Given the description of an element on the screen output the (x, y) to click on. 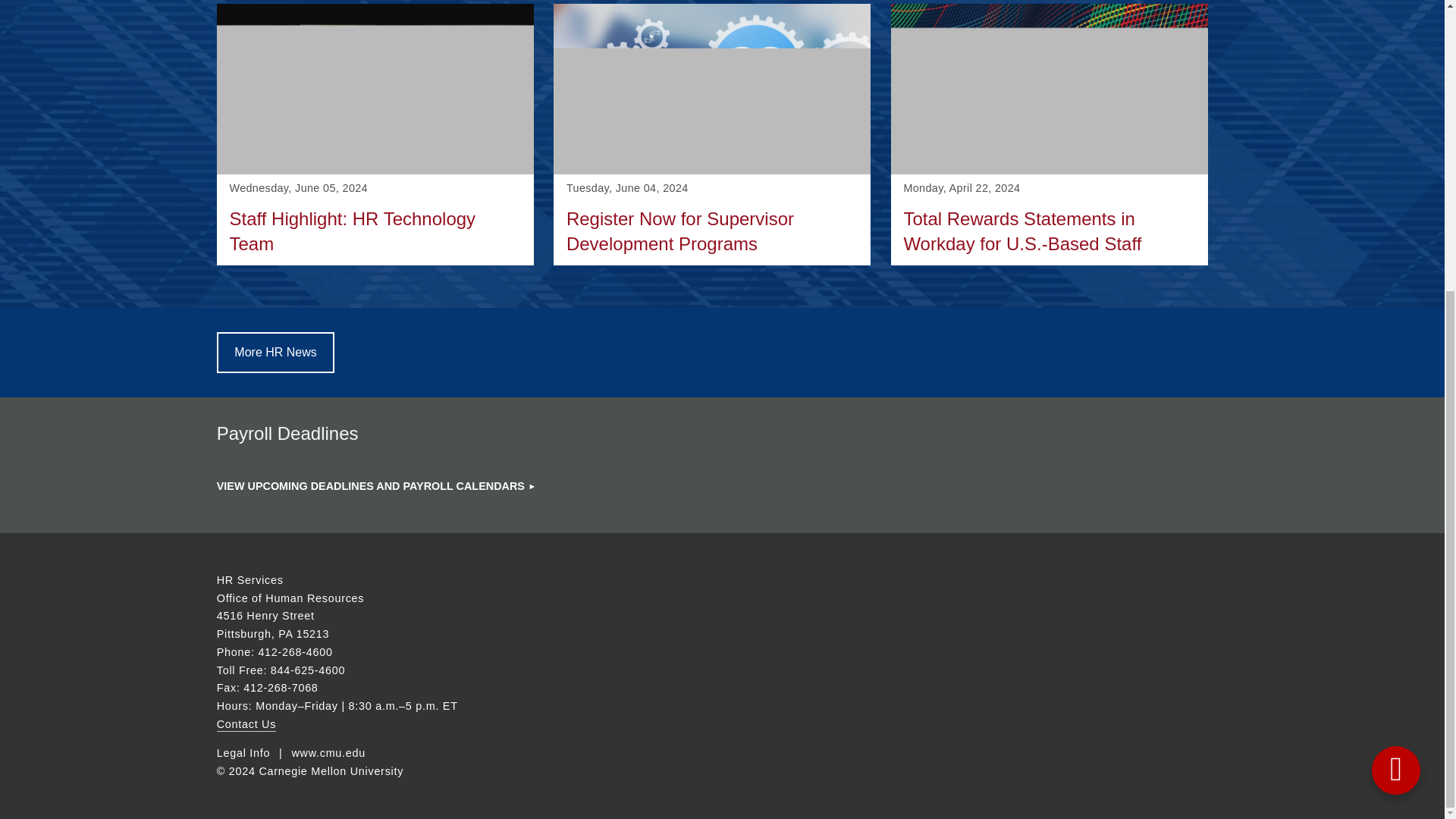
www.cmu.edu (375, 134)
Legal Info (328, 753)
VIEW UPCOMING DEADLINES AND PAYROLL CALENDARS (242, 753)
Contact Us (375, 485)
More HR News (246, 725)
